Given the description of an element on the screen output the (x, y) to click on. 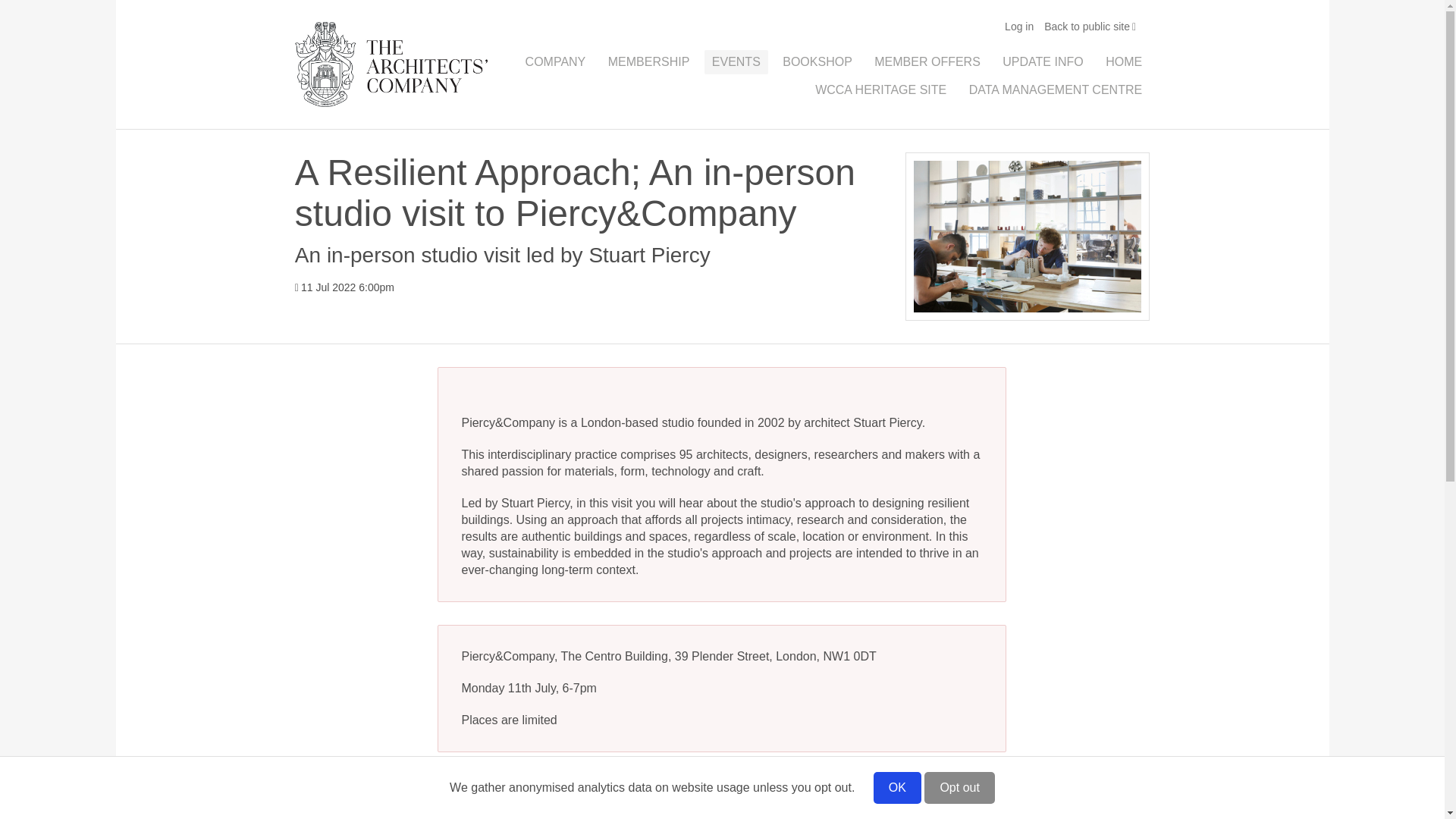
Log in (1018, 26)
Back to public site (1090, 26)
COMPANY (556, 61)
BOOKSHOP (817, 61)
HOME (1123, 61)
WCCA HERITAGE SITE (880, 89)
EVENTS (736, 61)
MEMBER OFFERS (927, 61)
Opt out (959, 787)
